Given the description of an element on the screen output the (x, y) to click on. 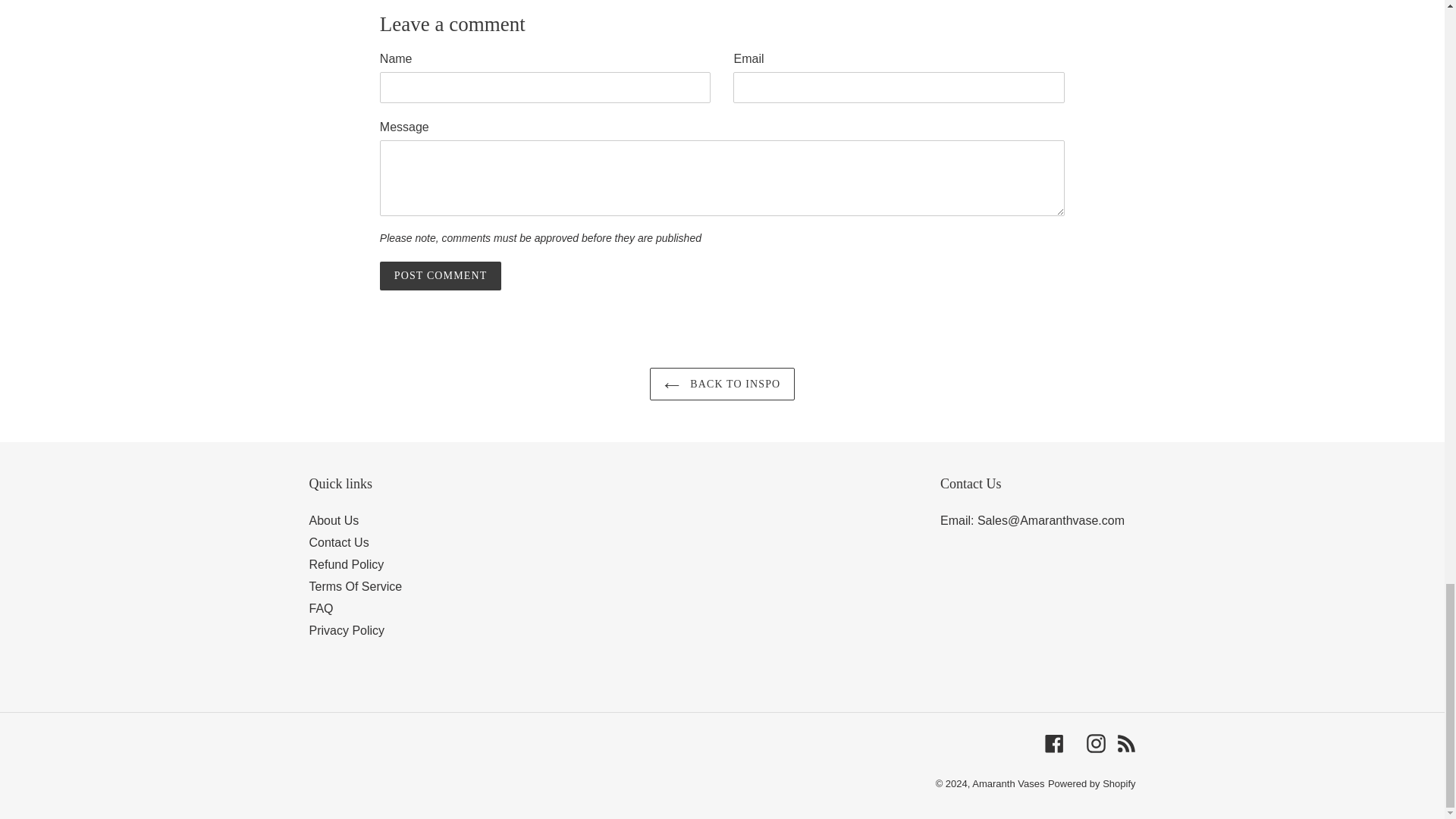
FAQ (320, 608)
Terms Of Service (355, 585)
Facebook (1054, 742)
Post comment (440, 276)
Contact Us (338, 542)
Refund Policy (346, 563)
Privacy Policy (346, 630)
BACK TO INSPO (721, 383)
Post comment (440, 276)
About Us (333, 520)
